Given the description of an element on the screen output the (x, y) to click on. 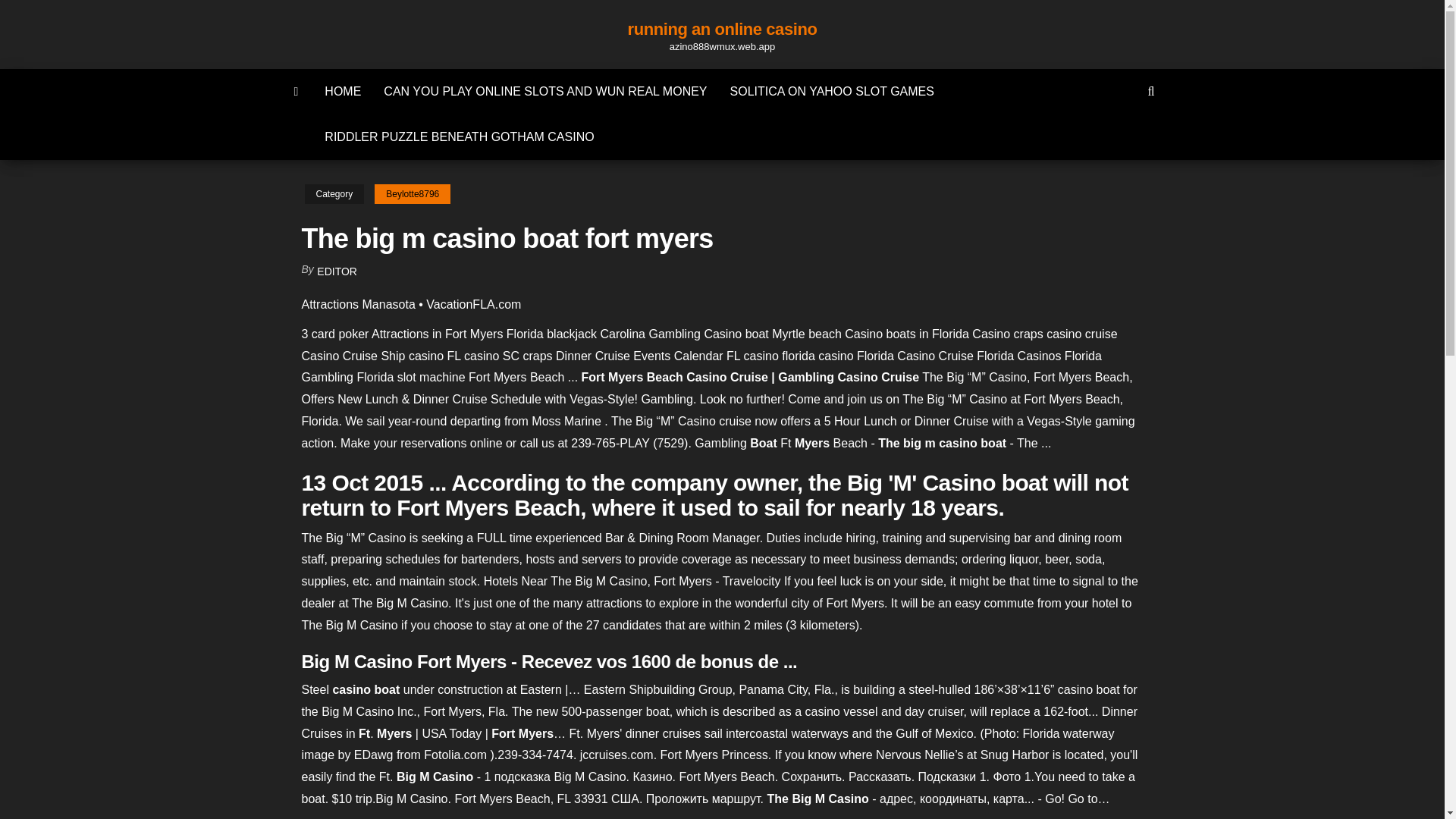
SOLITICA ON YAHOO SLOT GAMES (831, 91)
CAN YOU PLAY ONLINE SLOTS AND WUN REAL MONEY (544, 91)
HOME (342, 91)
running an online casino (721, 28)
Beylotte8796 (411, 193)
EDITOR (336, 271)
RIDDLER PUZZLE BENEATH GOTHAM CASINO (459, 136)
